Given the description of an element on the screen output the (x, y) to click on. 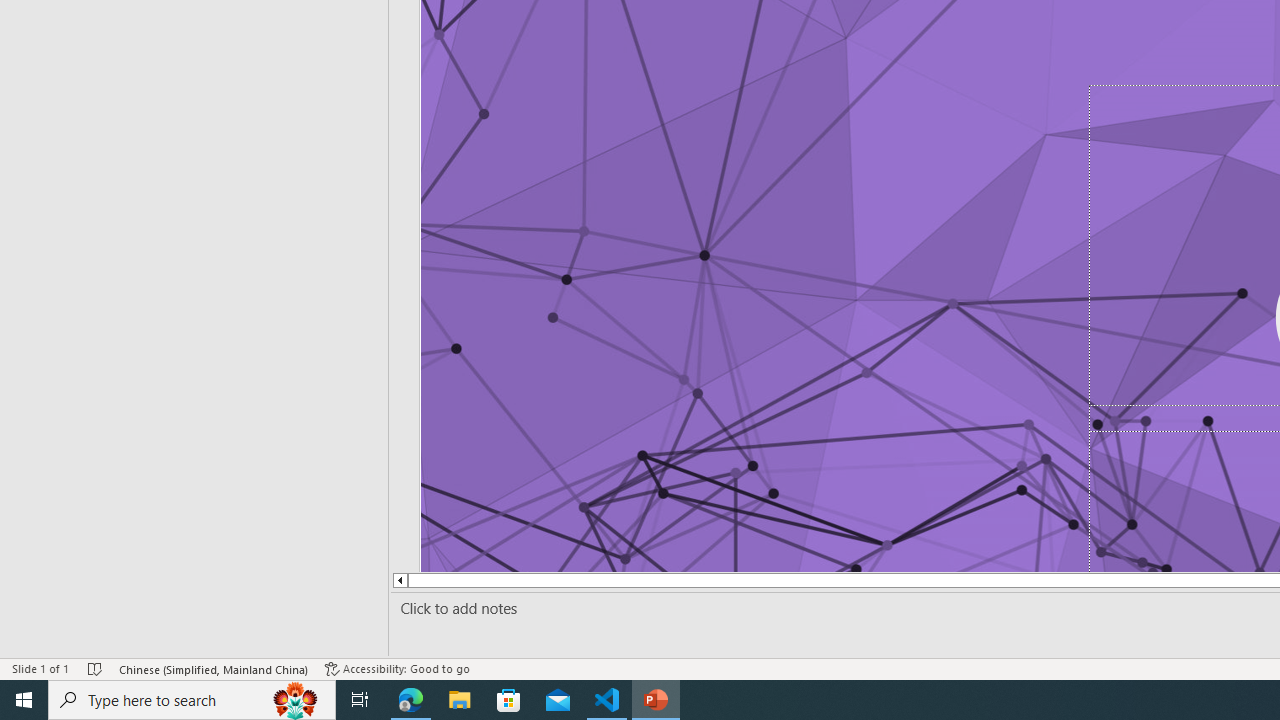
Accessibility Checker Accessibility: Good to go (397, 668)
